Given the description of an element on the screen output the (x, y) to click on. 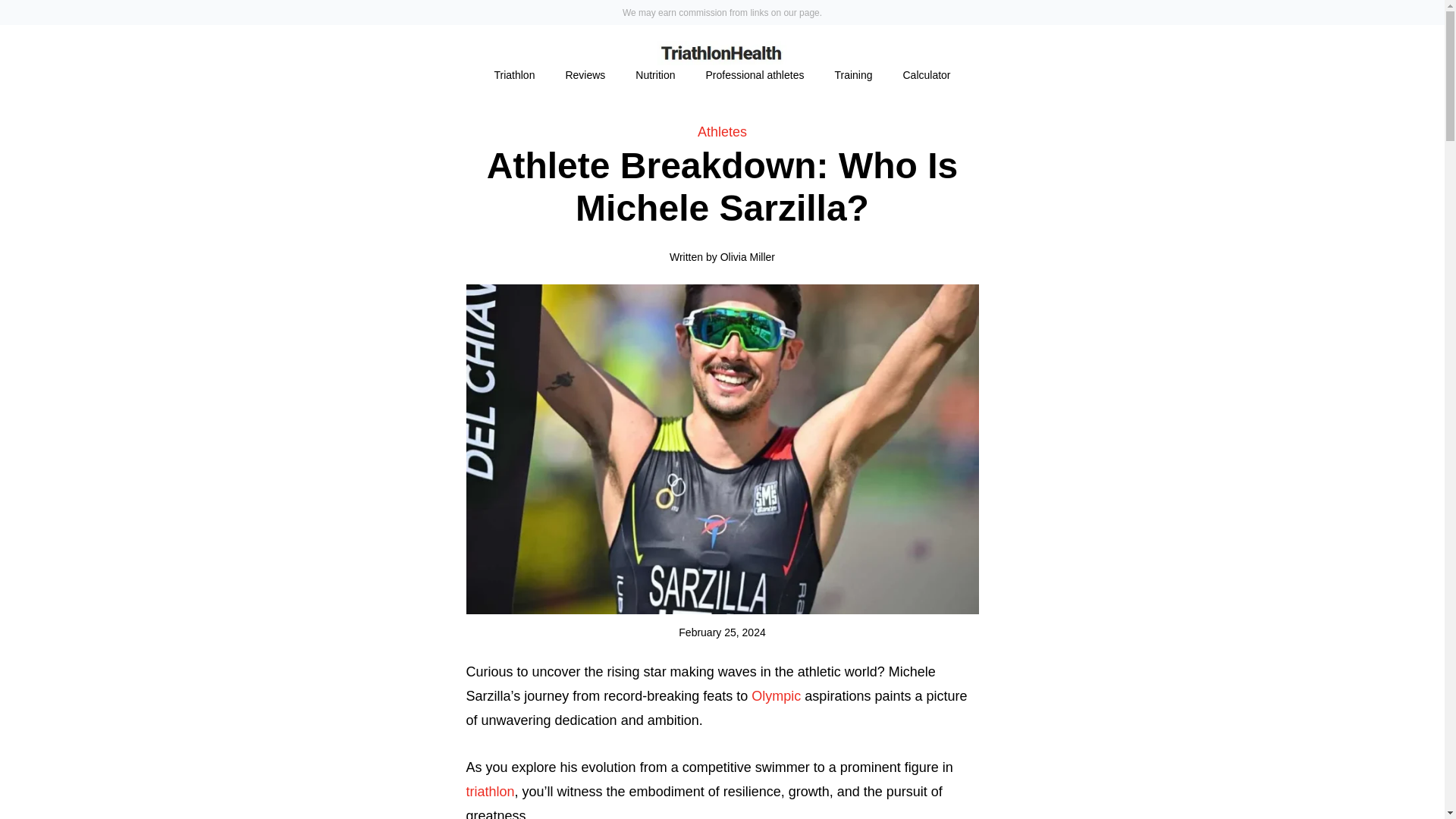
triathlon (489, 791)
Calculator (925, 75)
Training (852, 75)
Olympic (775, 695)
Triathlon (514, 75)
Professional athletes (754, 75)
Athletes (721, 131)
Reviews (585, 75)
Nutrition (655, 75)
Written by Olivia Miller (721, 256)
